Given the description of an element on the screen output the (x, y) to click on. 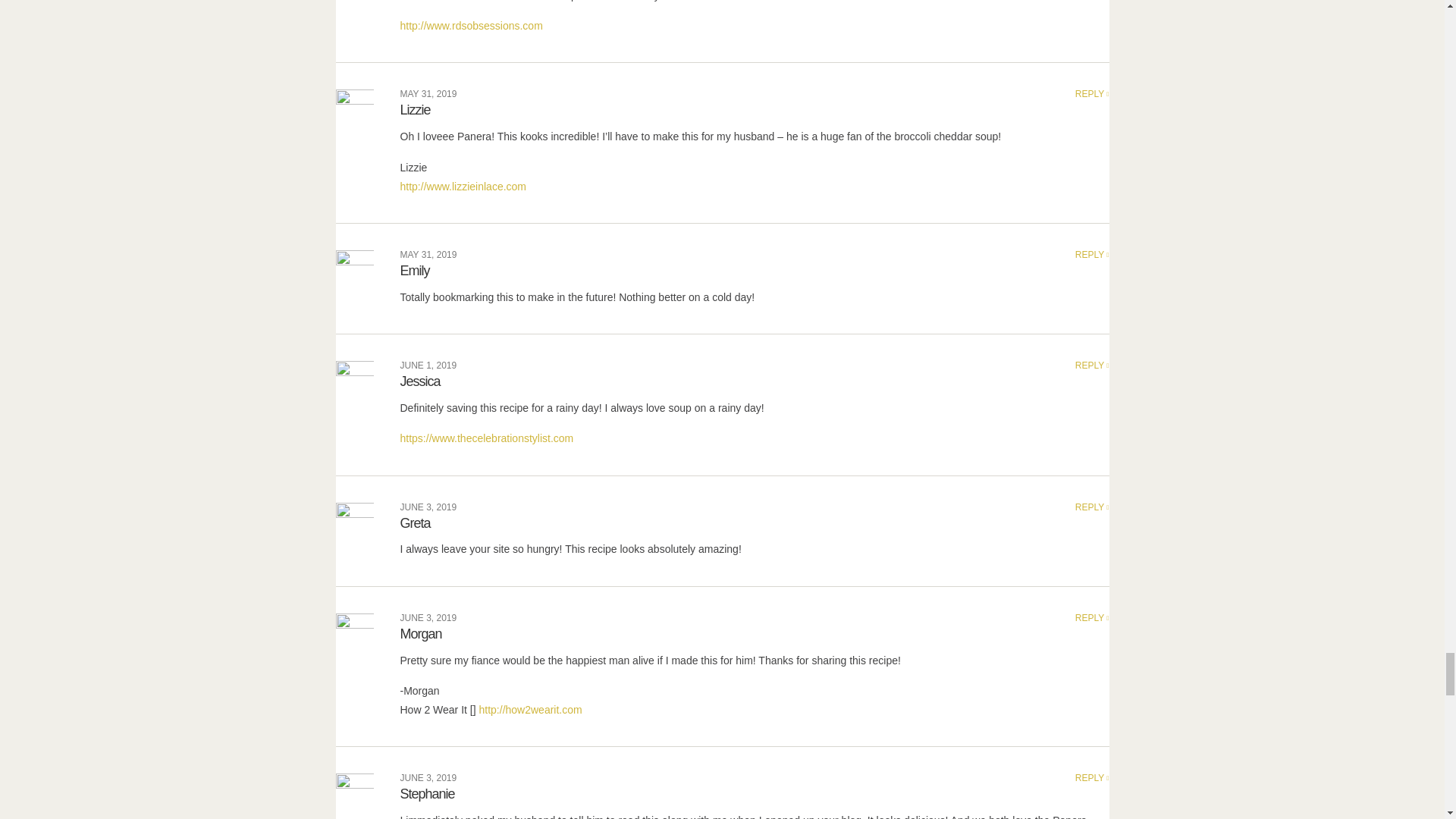
JUNE 3, 2019 (428, 506)
MAY 31, 2019 (428, 254)
REPLY (1092, 365)
REPLY (1092, 93)
JUNE 1, 2019 (428, 365)
MAY 31, 2019 (428, 93)
Jessica (420, 381)
REPLY (1092, 506)
REPLY (1092, 254)
